Given the description of an element on the screen output the (x, y) to click on. 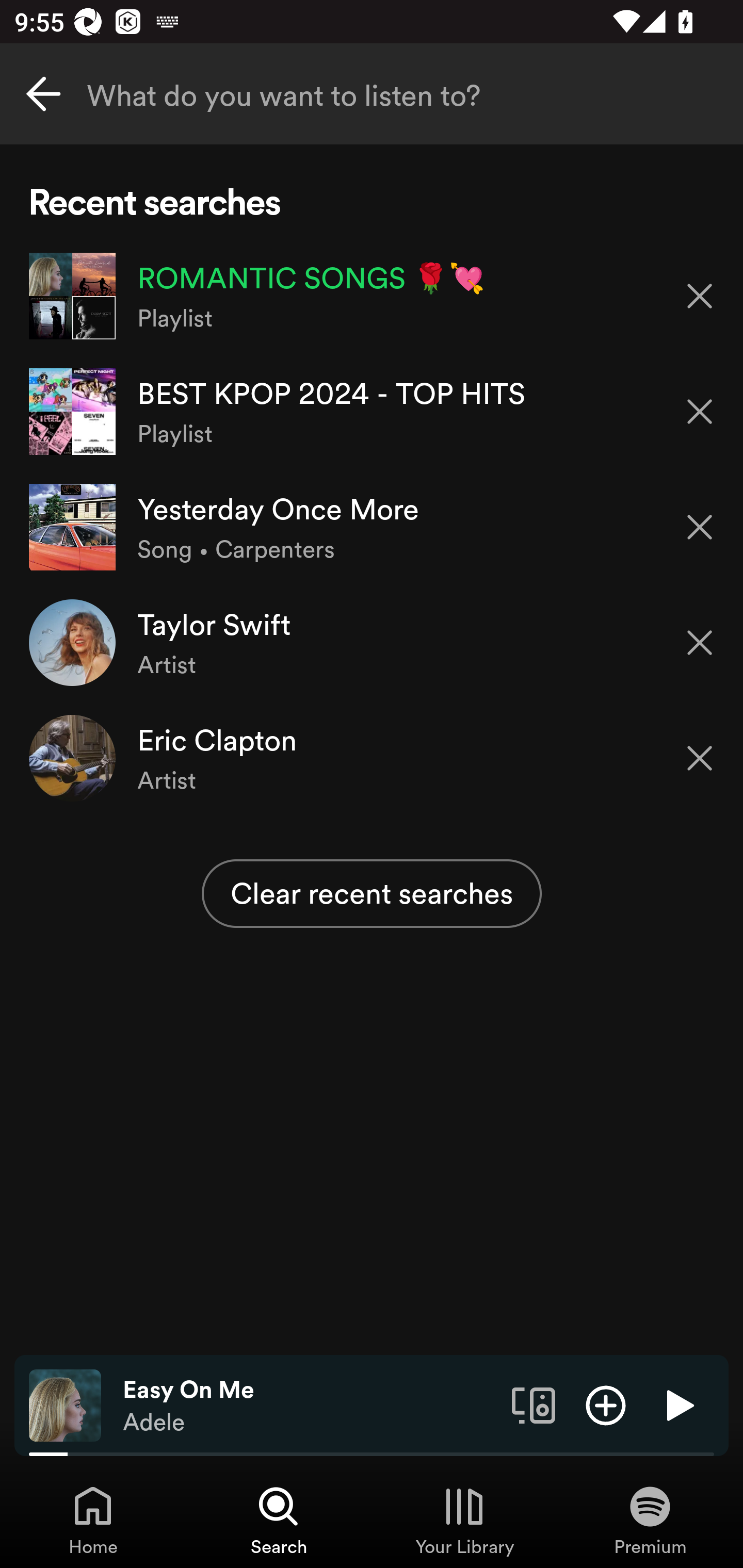
What do you want to listen to? (371, 93)
Cancel (43, 93)
ROMANTIC SONGS 🌹💘 Playlist Remove (371, 296)
Remove (699, 295)
BEST KPOP 2024 - TOP HITS Playlist Remove (371, 411)
Remove (699, 411)
Yesterday Once More Song • Carpenters Remove (371, 526)
Remove (699, 527)
Taylor Swift Artist Remove (371, 642)
Remove (699, 642)
Eric Clapton Artist Remove (371, 757)
Remove (699, 758)
Clear recent searches (371, 893)
Easy On Me Adele (309, 1405)
The cover art of the currently playing track (64, 1404)
Connect to a device. Opens the devices menu (533, 1404)
Add item (605, 1404)
Play (677, 1404)
Home, Tab 1 of 4 Home Home (92, 1519)
Search, Tab 2 of 4 Search Search (278, 1519)
Your Library, Tab 3 of 4 Your Library Your Library (464, 1519)
Premium, Tab 4 of 4 Premium Premium (650, 1519)
